Given the description of an element on the screen output the (x, y) to click on. 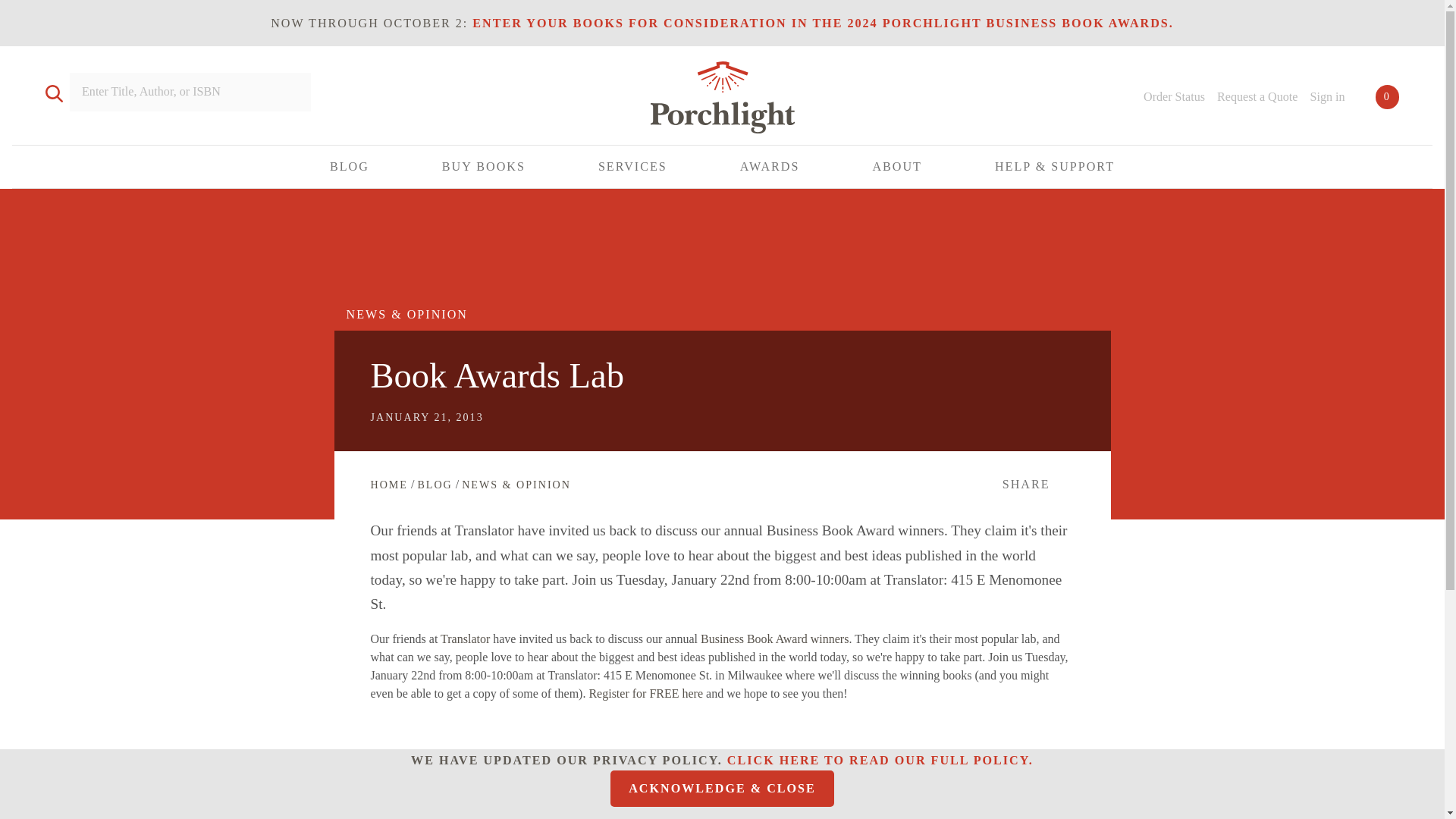
Blog (433, 484)
Porchlight (721, 99)
BLOG (350, 166)
Twitter (1335, 803)
SERVICES (632, 166)
BUY BOOKS (484, 166)
